Given the description of an element on the screen output the (x, y) to click on. 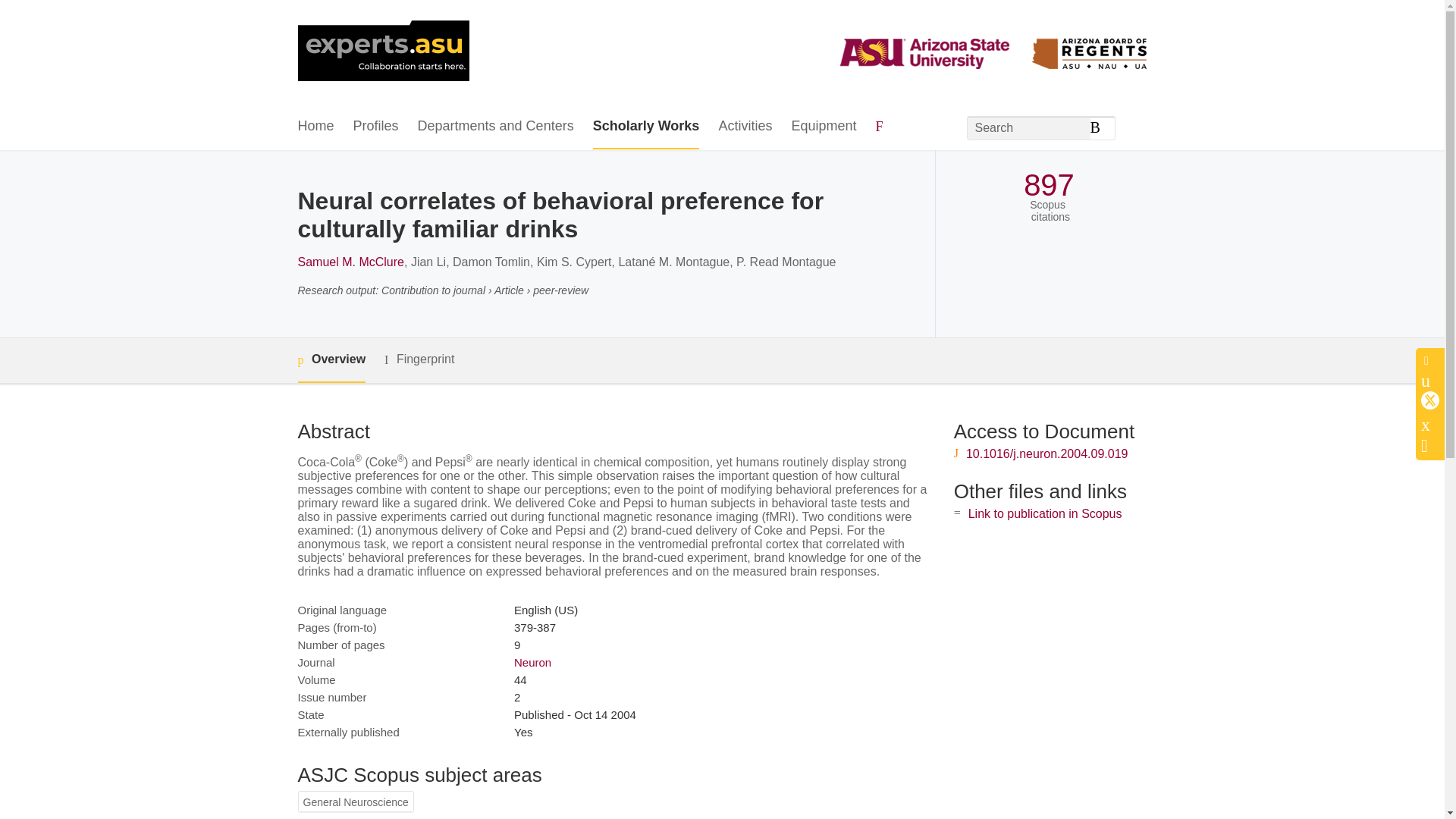
Fingerprint (419, 359)
Overview (331, 360)
Neuron (532, 662)
Samuel M. McClure (350, 261)
Scholarly Works (646, 126)
Link to publication in Scopus (1045, 513)
Equipment (823, 126)
Departments and Centers (495, 126)
897 (1048, 185)
Profiles (375, 126)
